Given the description of an element on the screen output the (x, y) to click on. 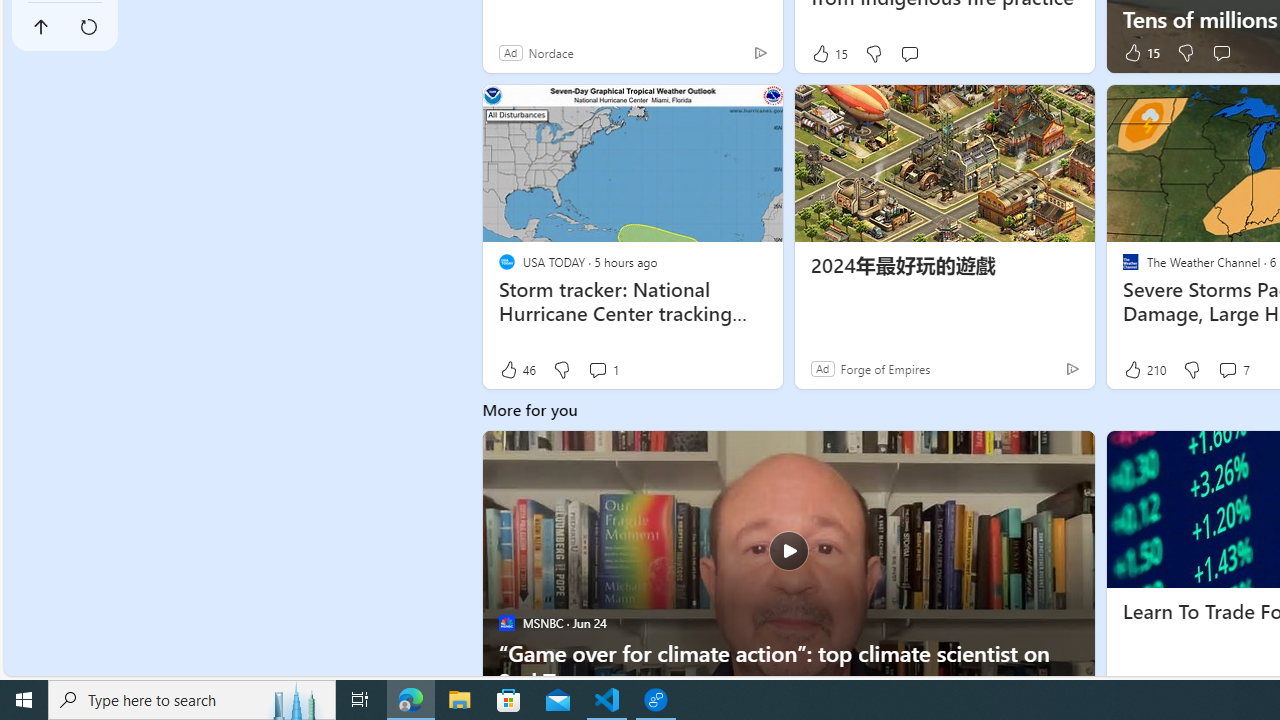
View comments 1 Comment (597, 370)
View comments 1 Comment (602, 369)
The Weather Channel (1130, 262)
View comments 7 Comment (1233, 369)
46 Like (517, 369)
Refresh this page (89, 26)
View comments 7 Comment (1227, 370)
